Given the description of an element on the screen output the (x, y) to click on. 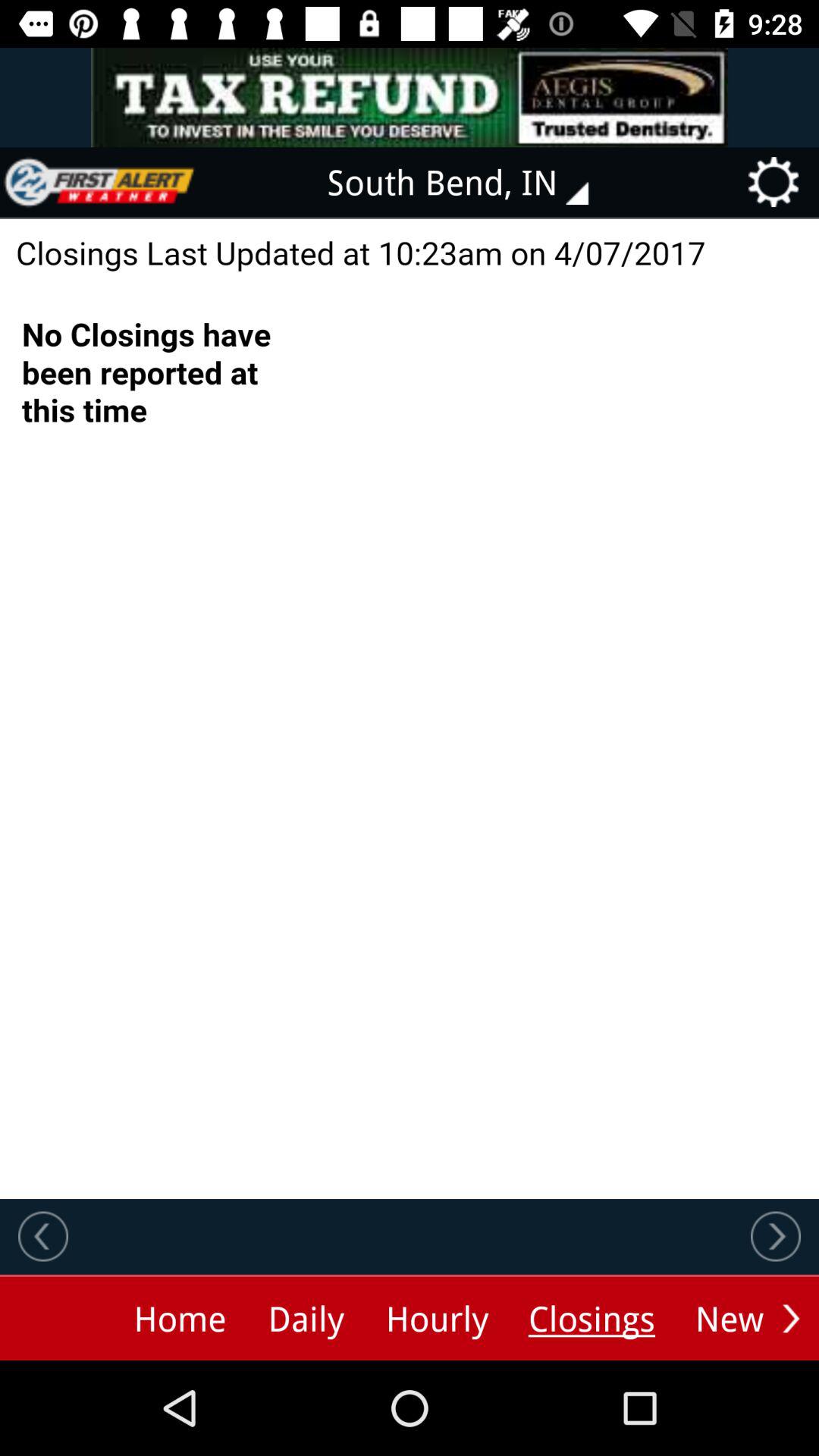
swipe to south bend, in (468, 182)
